Given the description of an element on the screen output the (x, y) to click on. 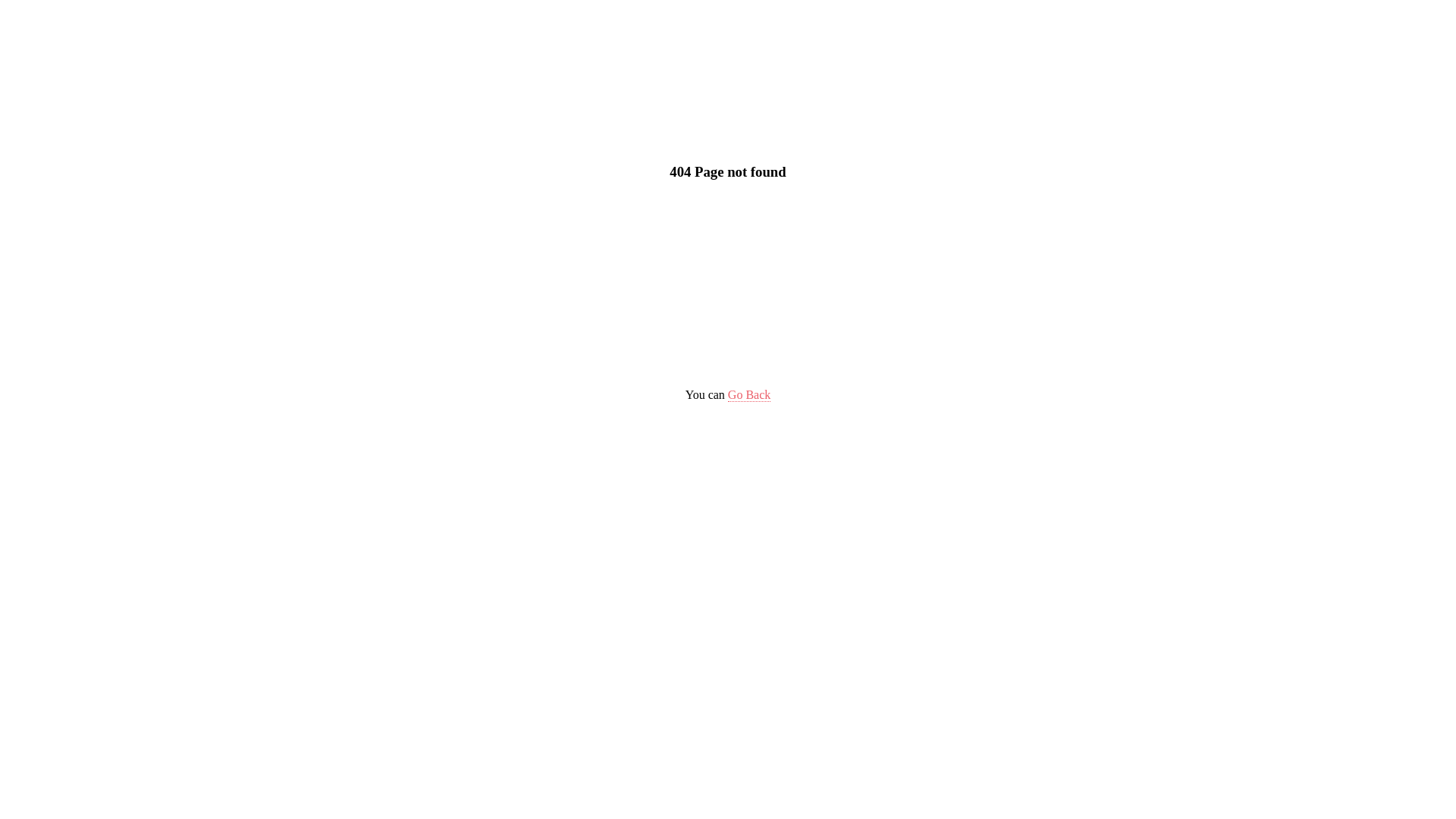
Go Back Element type: text (749, 394)
